Given the description of an element on the screen output the (x, y) to click on. 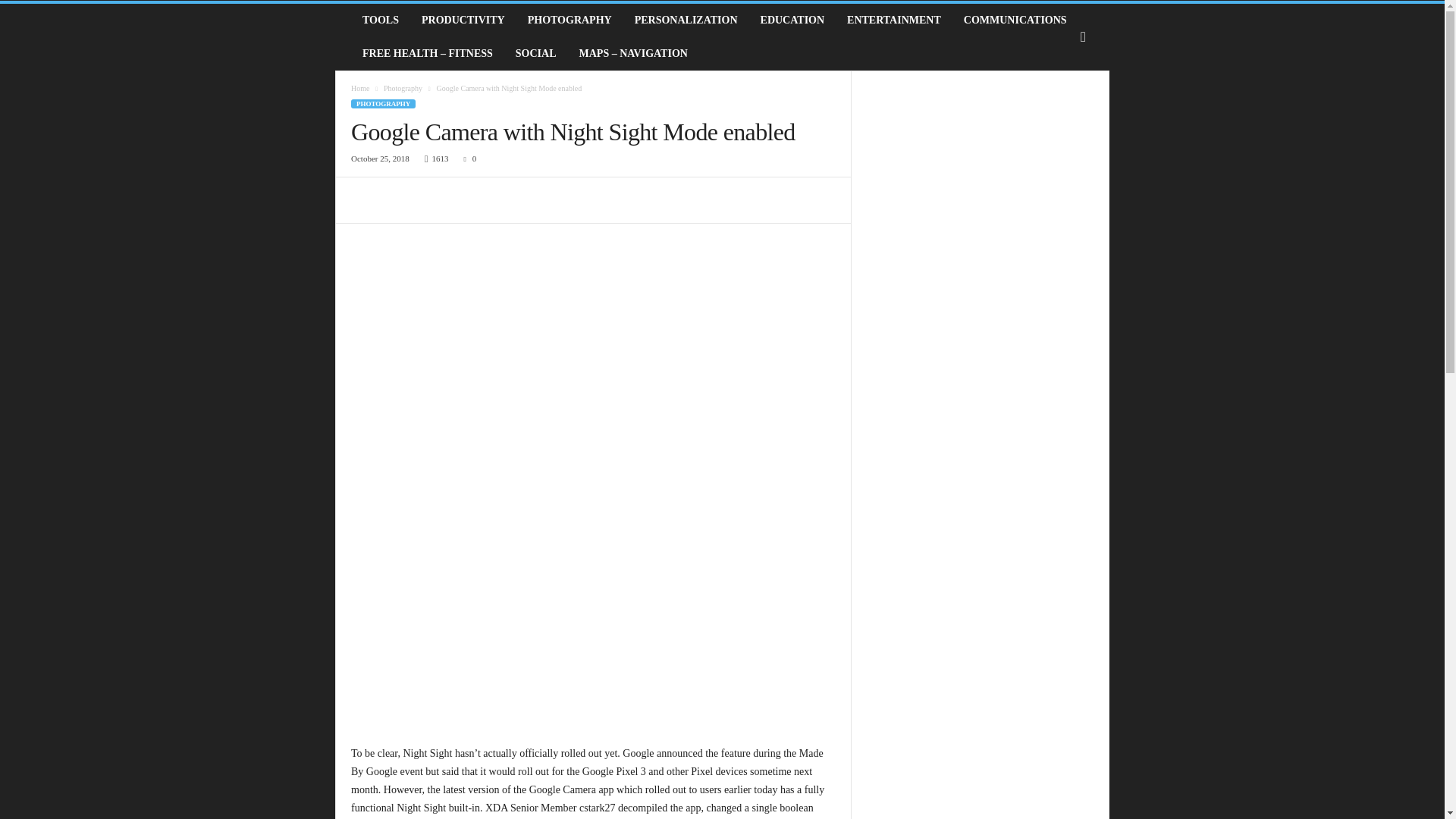
SOCIAL (535, 53)
PHOTOGRAPHY (569, 20)
EDUCATION (792, 20)
COMMUNICATIONS (1015, 20)
TOOLS (380, 20)
Home (359, 88)
Photography (403, 88)
PERSONALIZATION (686, 20)
0 (467, 157)
View all posts in Photography (403, 88)
ENTERTAINMENT (893, 20)
PRODUCTIVITY (463, 20)
PHOTOGRAPHY (382, 103)
